Given the description of an element on the screen output the (x, y) to click on. 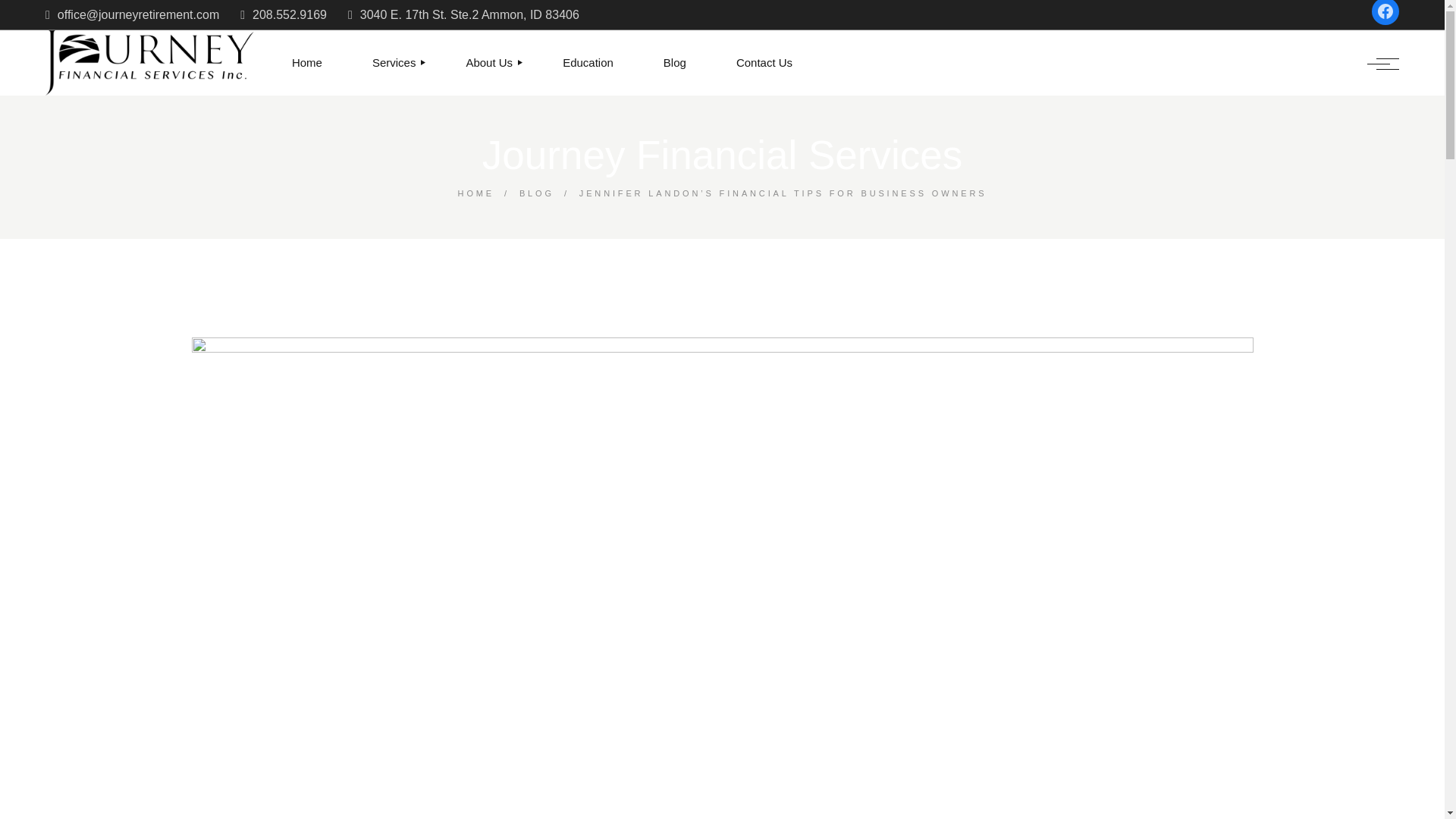
208.552.9169 (283, 15)
BLOG (536, 193)
HOME (476, 193)
